Given the description of an element on the screen output the (x, y) to click on. 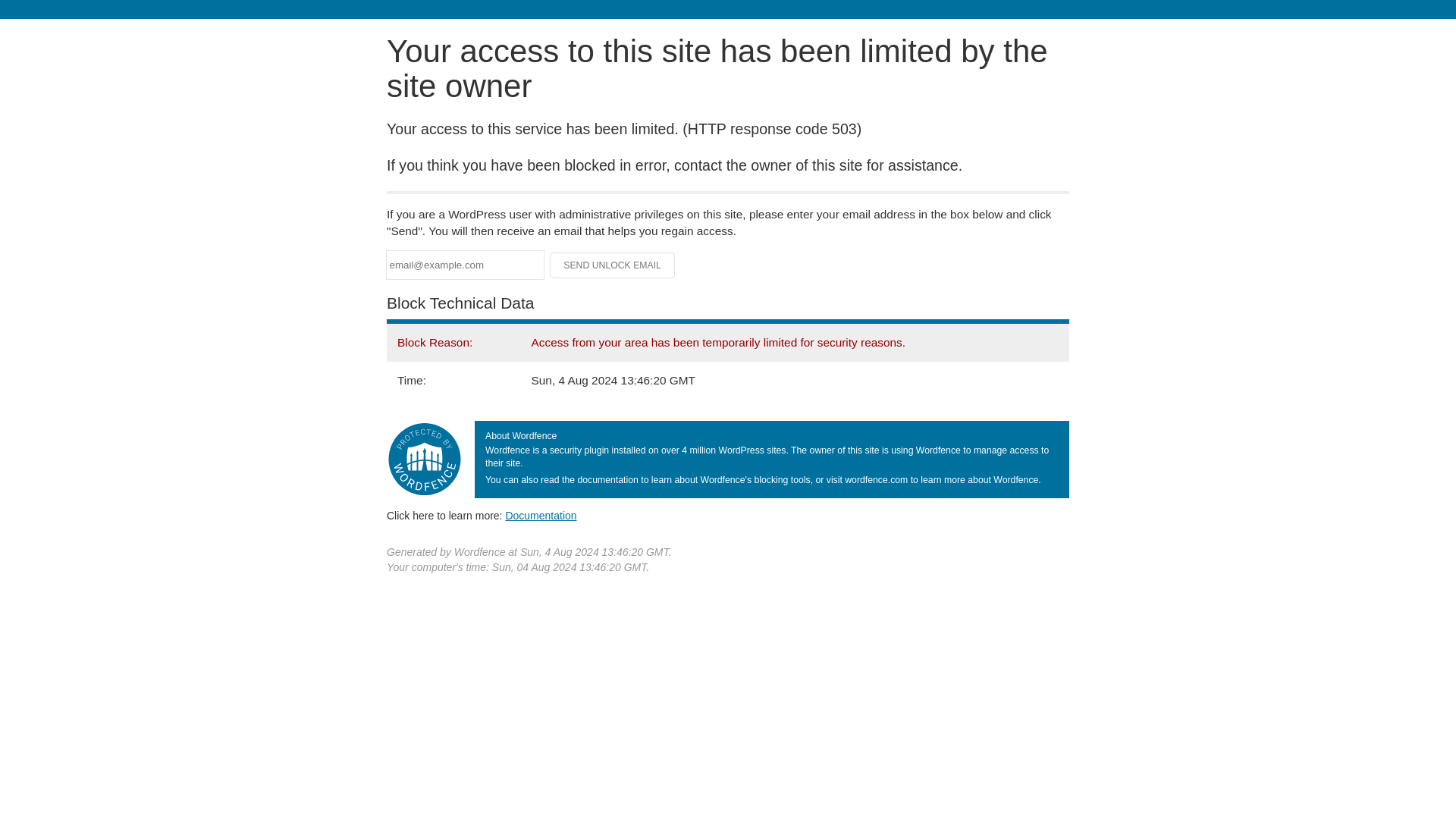
Send Unlock Email (612, 265)
Send Unlock Email (612, 265)
Documentation (540, 515)
